Given the description of an element on the screen output the (x, y) to click on. 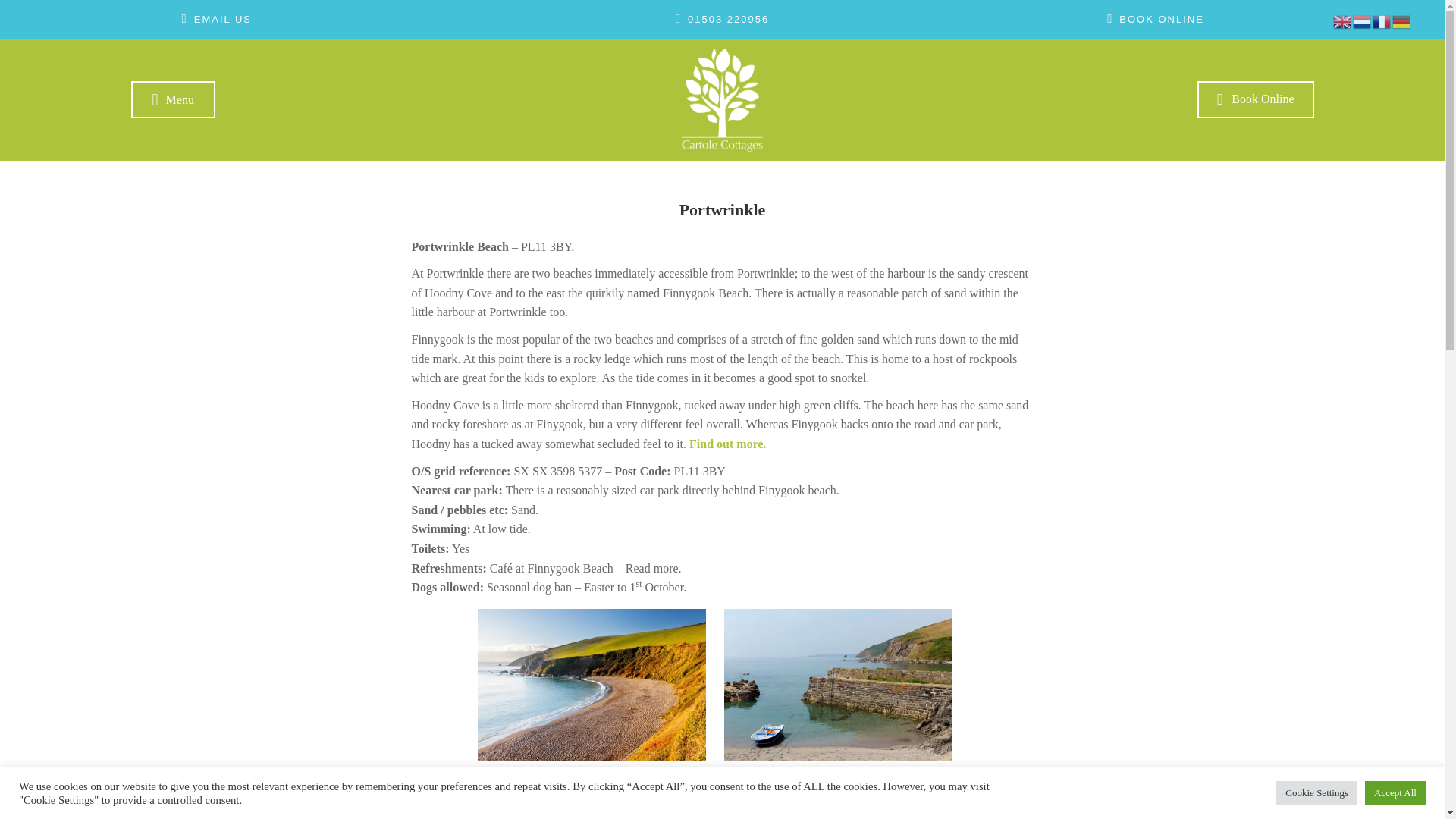
Menu (172, 99)
01503 220956 (721, 19)
German (1401, 20)
Cartole Logo - Front Page 2022 - rectangle (721, 99)
EMAIL US (216, 19)
Dutch (1362, 20)
English (1342, 20)
BOOK ONLINE (1155, 19)
French (1382, 20)
